Given the description of an element on the screen output the (x, y) to click on. 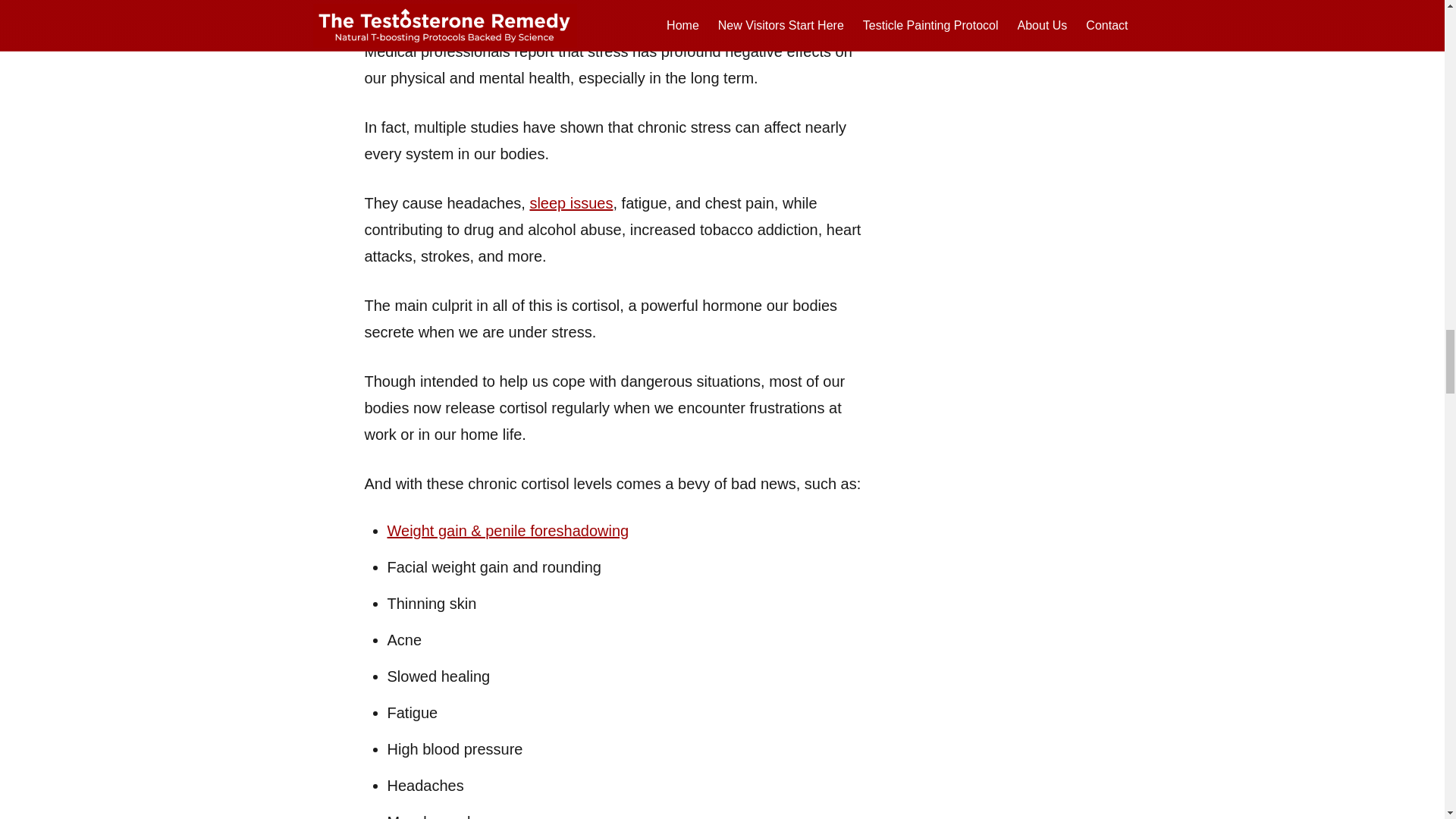
sleep issues (570, 202)
